Given the description of an element on the screen output the (x, y) to click on. 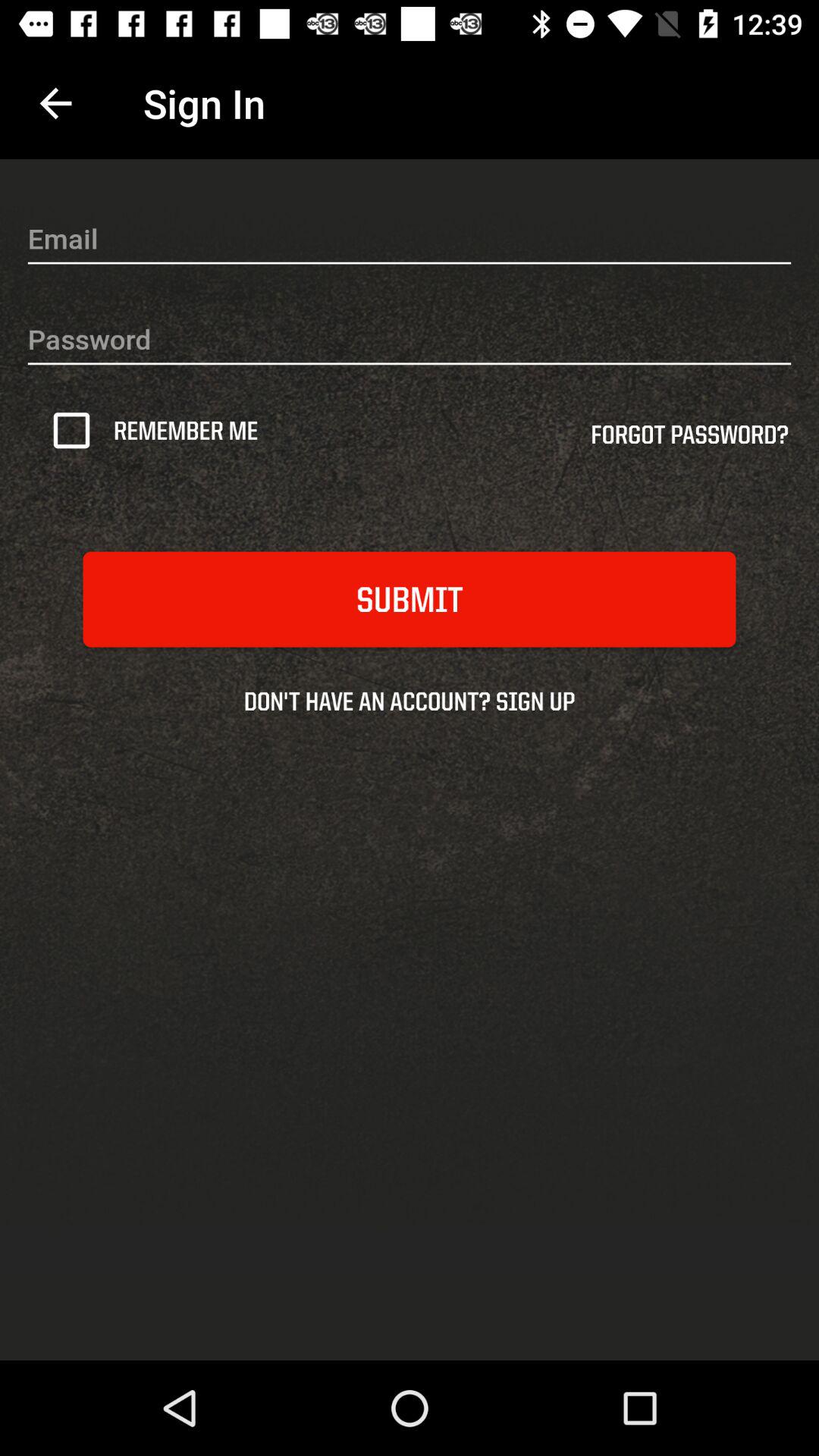
choose the submit (409, 599)
